Given the description of an element on the screen output the (x, y) to click on. 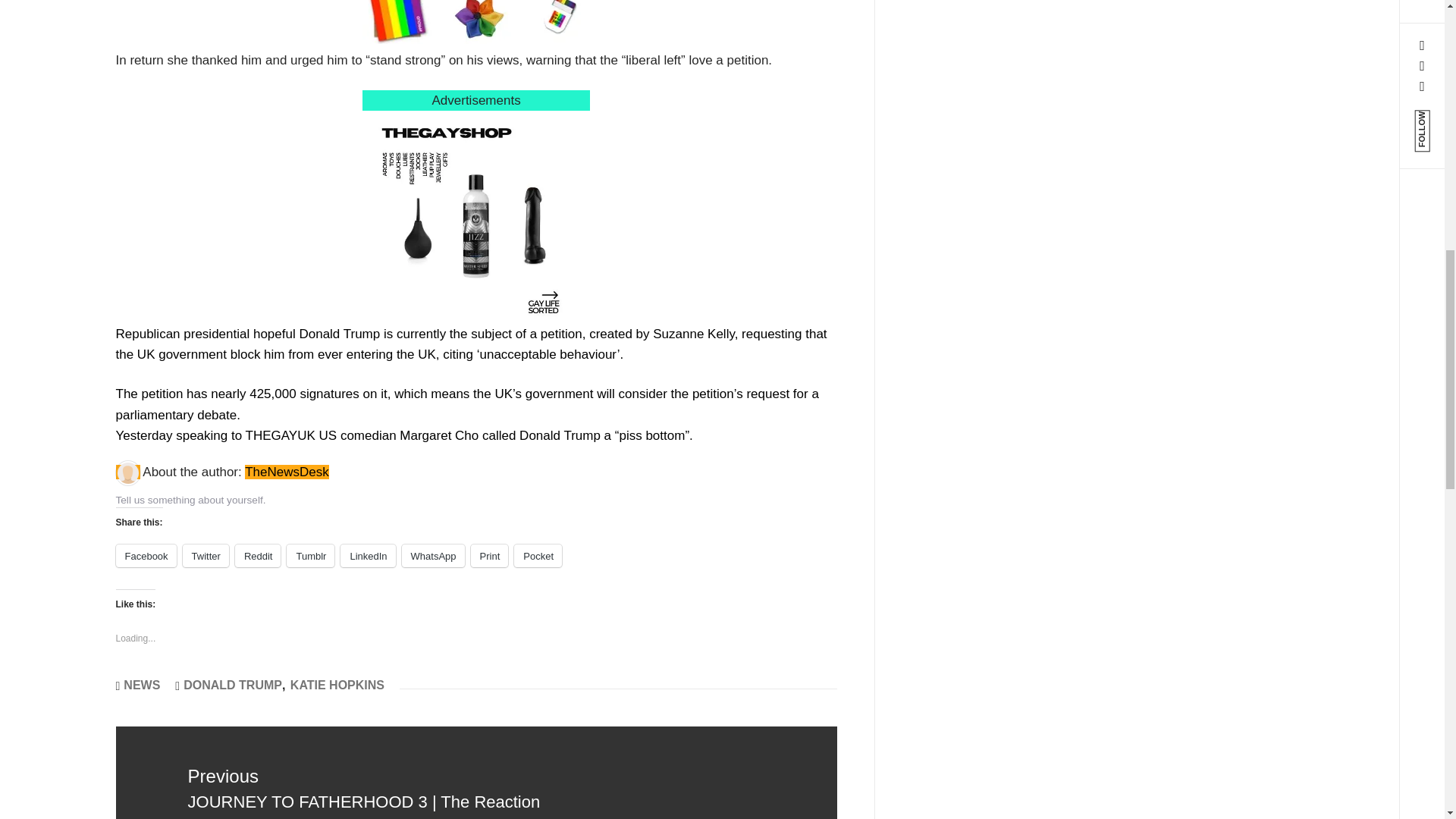
Click to share on Facebook (145, 555)
Click to share on Tumblr (310, 555)
Click to print (489, 555)
Click to share on Reddit (257, 555)
Click to share on LinkedIn (367, 555)
Click to share on Pocket (537, 555)
Click to share on Twitter (205, 555)
Click to share on WhatsApp (432, 555)
